Given the description of an element on the screen output the (x, y) to click on. 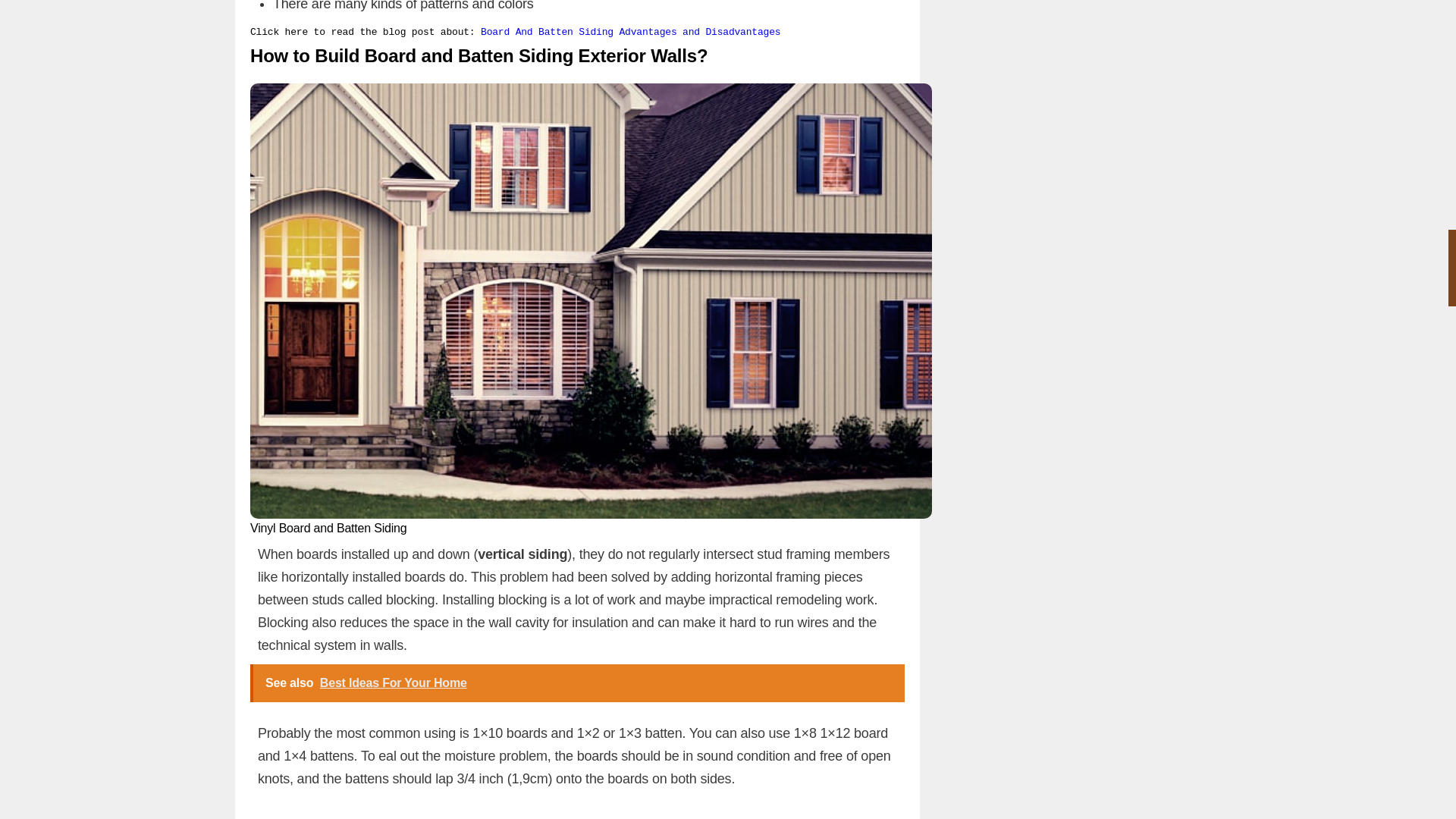
Board And Batten Siding Advantages and Disadvantages (630, 31)
Board And Batten Siding Advantages and Disadvantages (630, 31)
See also  Best Ideas For Your Home (577, 682)
